Given the description of an element on the screen output the (x, y) to click on. 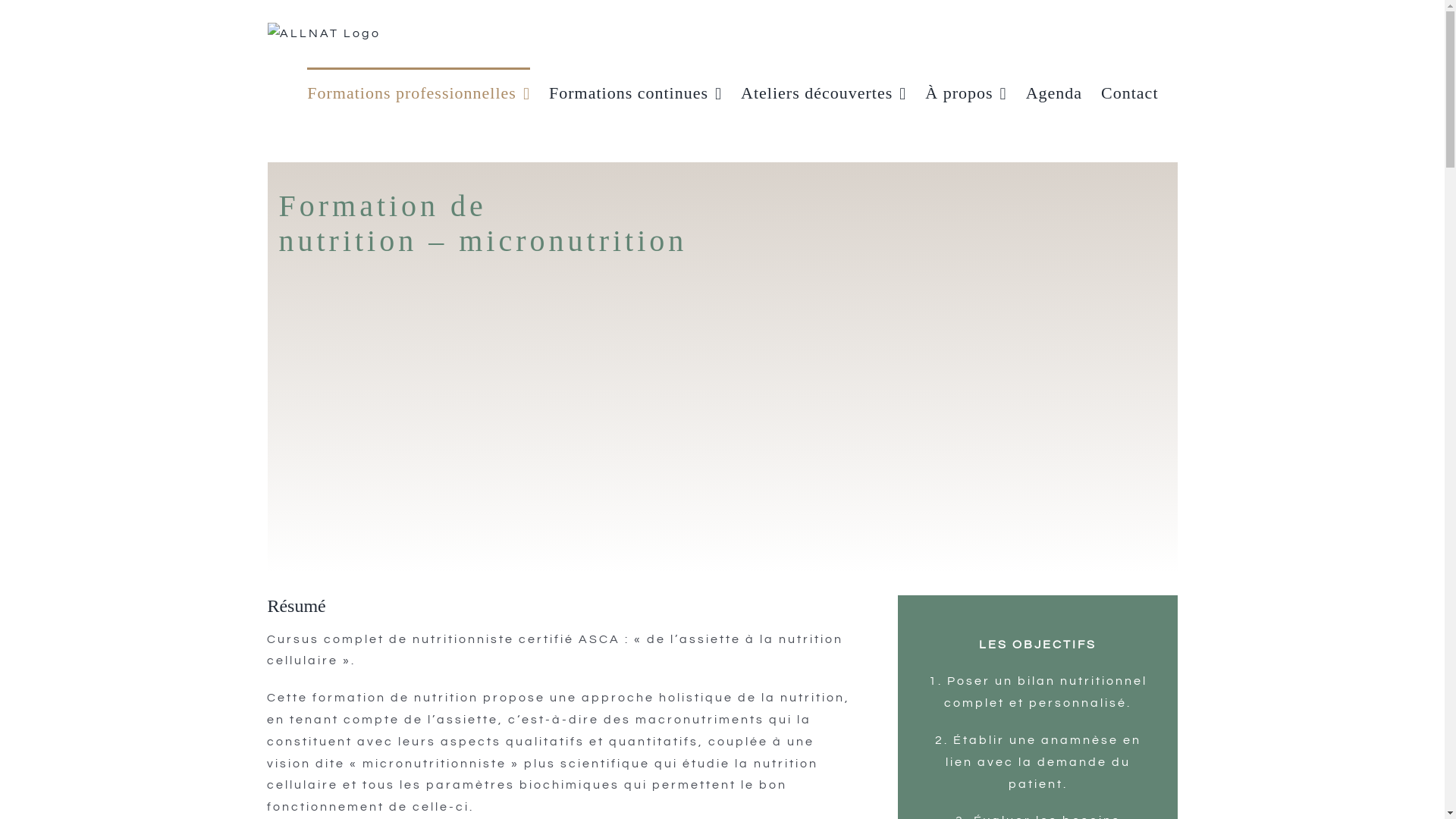
Contact Element type: text (1129, 91)
Formations continues Element type: text (635, 91)
Agenda Element type: text (1054, 91)
Formations professionnelles Element type: text (418, 91)
